Given the description of an element on the screen output the (x, y) to click on. 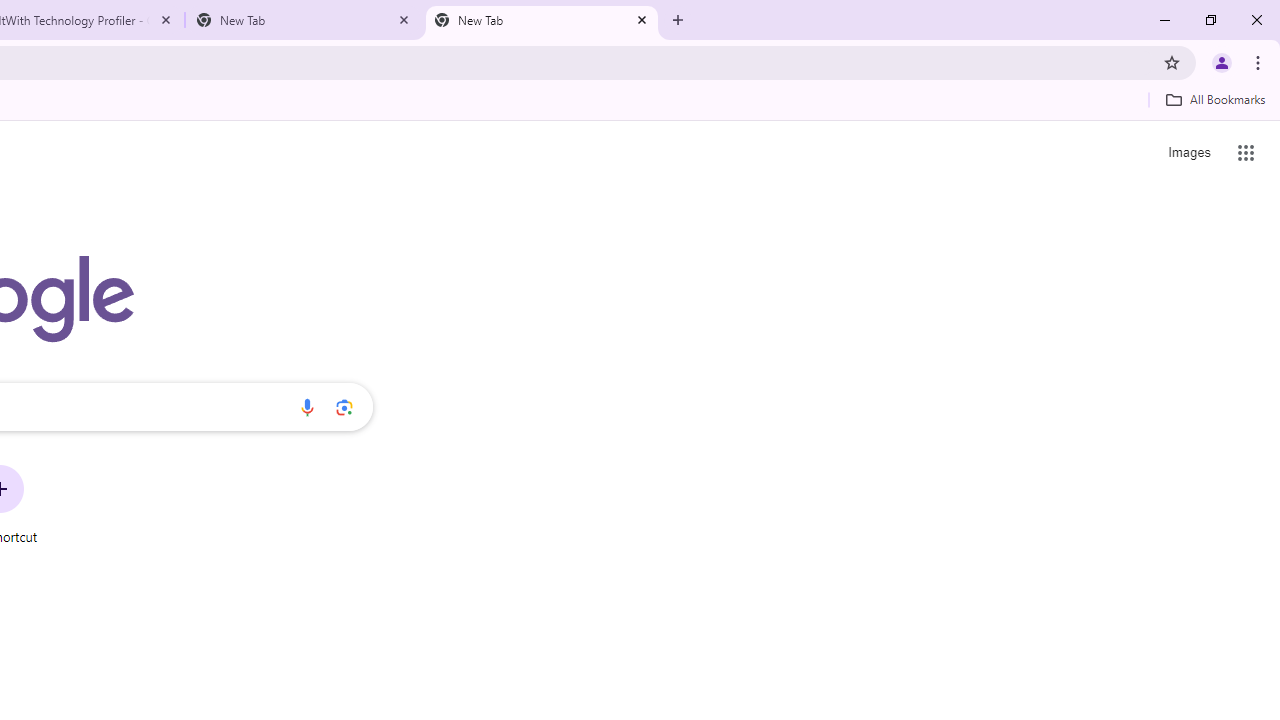
New Tab (541, 20)
